Given the description of an element on the screen output the (x, y) to click on. 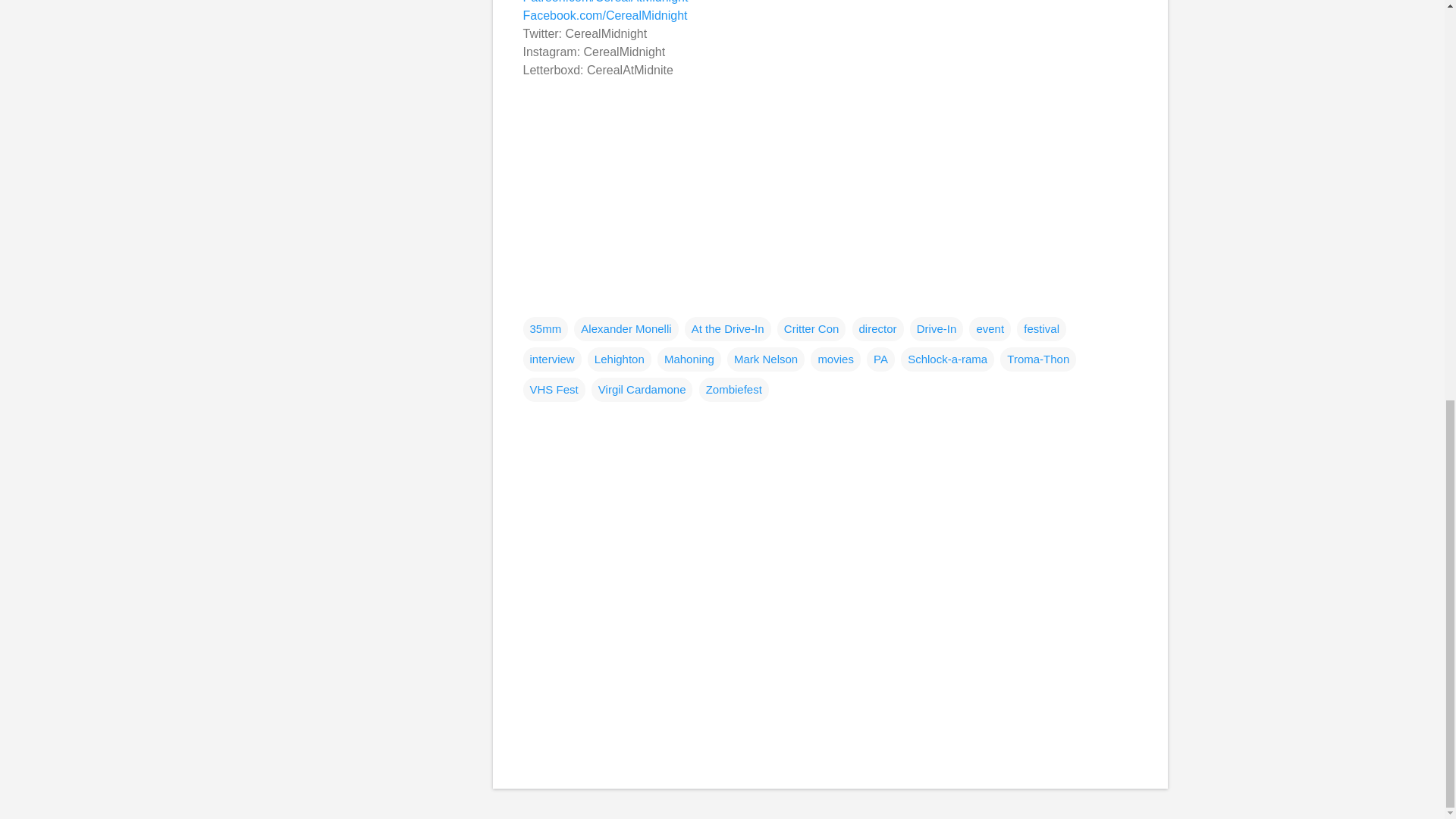
Virgil Cardamone (642, 389)
Drive-In (936, 328)
VHS Fest (553, 389)
Mark Nelson (765, 359)
Critter Con (811, 328)
festival (1040, 328)
event (989, 328)
Troma-Thon (1037, 359)
At the Drive-In (727, 328)
Alexander Monelli (625, 328)
